Given the description of an element on the screen output the (x, y) to click on. 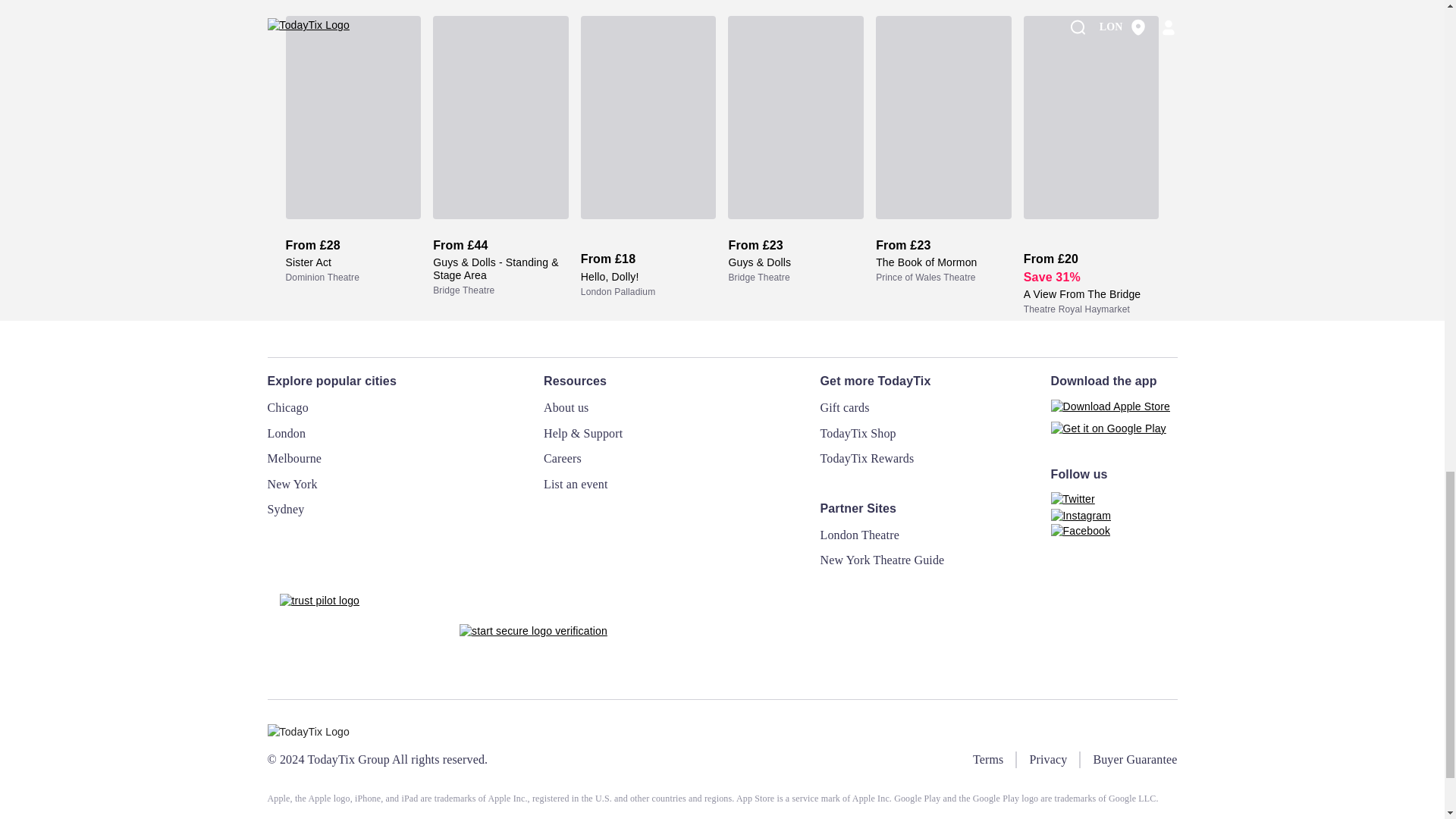
TodayTix Shop (858, 432)
List an event (575, 483)
Gift cards (845, 407)
Sydney (285, 508)
London Theatre (860, 534)
Chicago (286, 407)
London (285, 432)
Melbourne (293, 458)
About us (565, 407)
New York Theatre Guide (882, 559)
Careers (561, 458)
TodayTix Rewards (867, 458)
New York (291, 483)
